Given the description of an element on the screen output the (x, y) to click on. 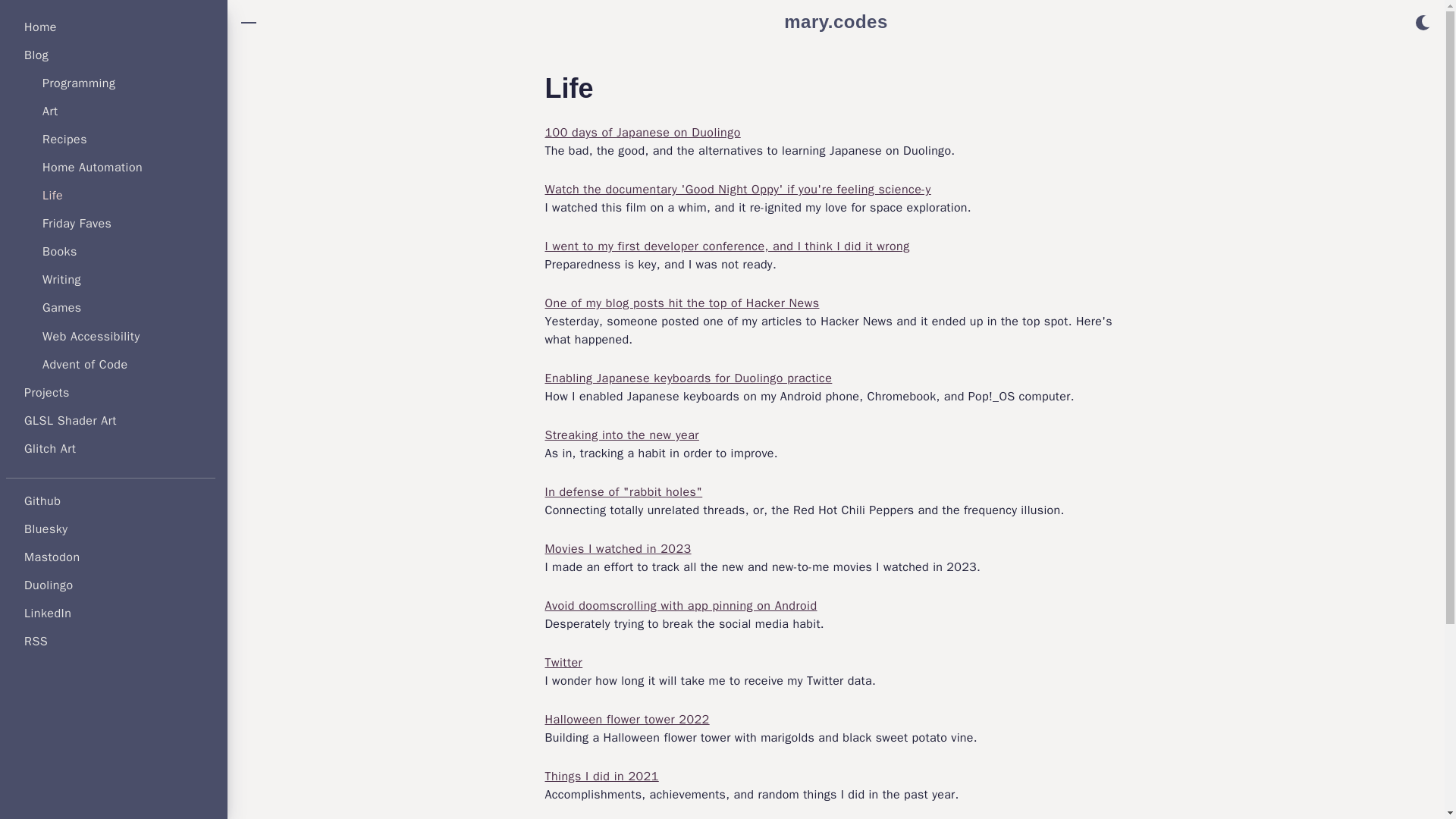
Projects (46, 392)
LinkedIn (47, 613)
In defense of "rabbit holes" (622, 491)
mary.codes (835, 21)
Advent of Code (85, 364)
Blog (36, 55)
Games (61, 307)
Home (40, 27)
Halloween flower tower 2022 (626, 719)
